Given the description of an element on the screen output the (x, y) to click on. 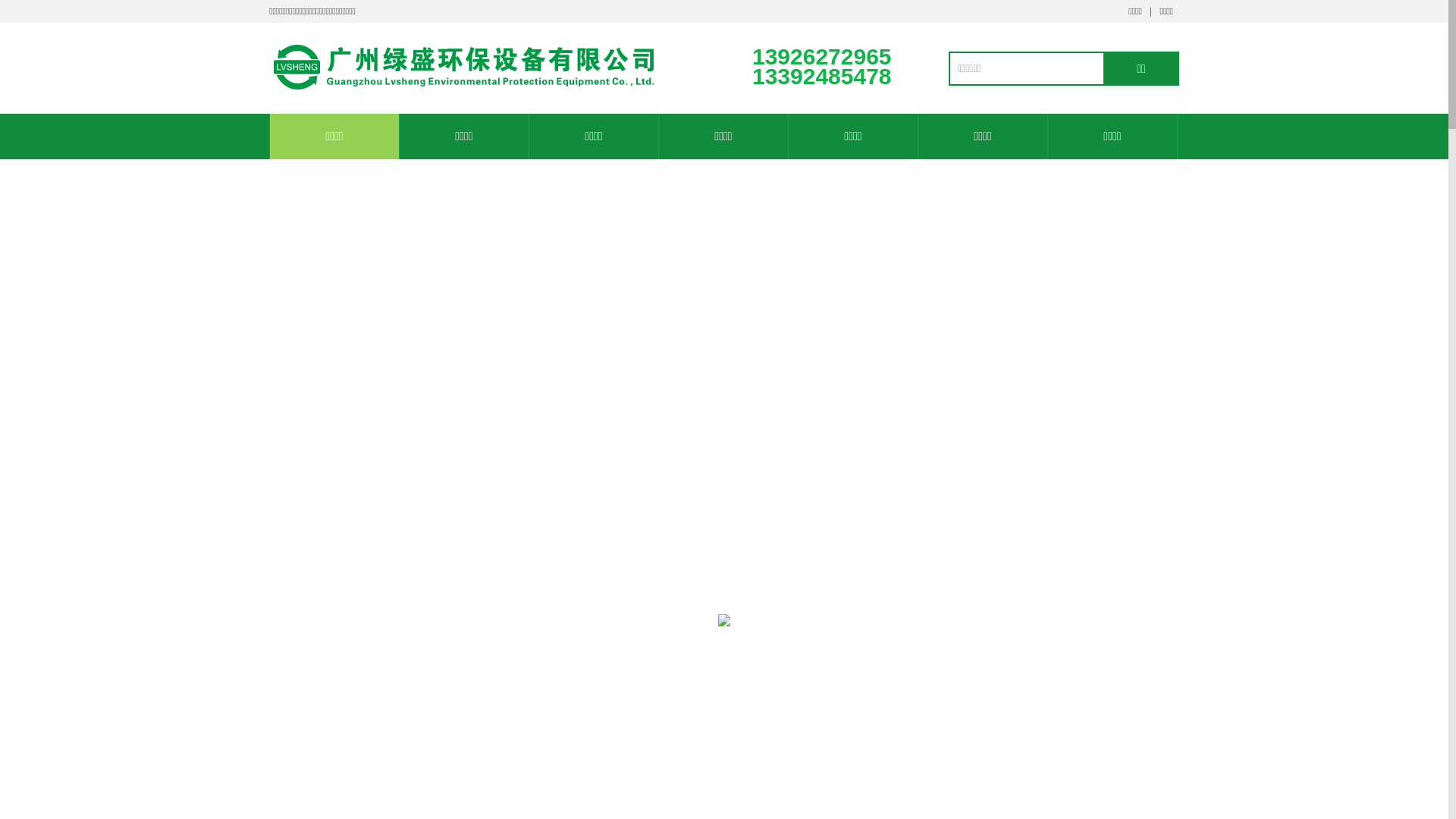
13926272965 Element type: text (1415, 379)
